Given the description of an element on the screen output the (x, y) to click on. 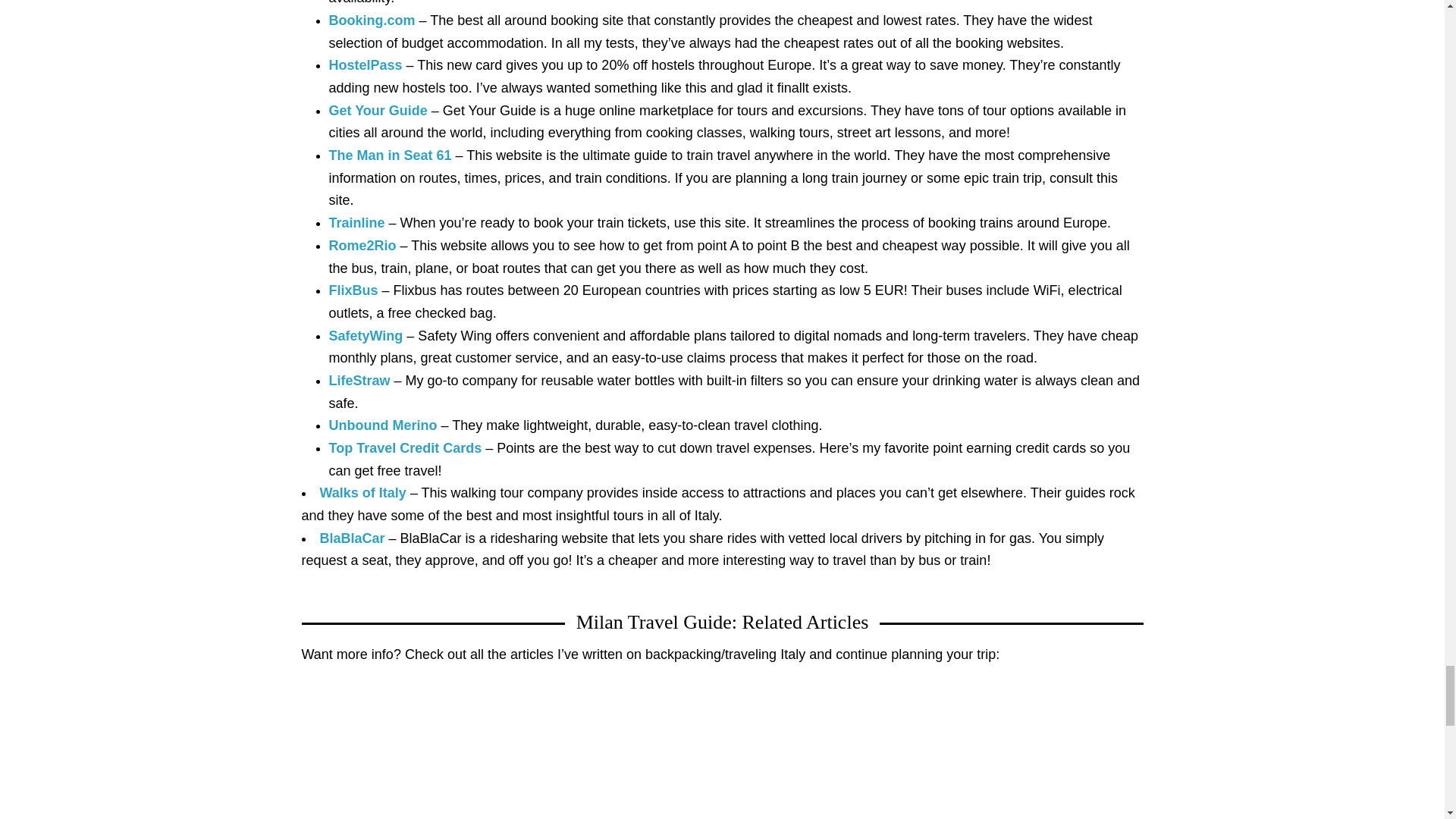
The Best Walking Tours in Bologna (435, 755)
The 6 Best Hotels in Florence (721, 755)
